Given the description of an element on the screen output the (x, y) to click on. 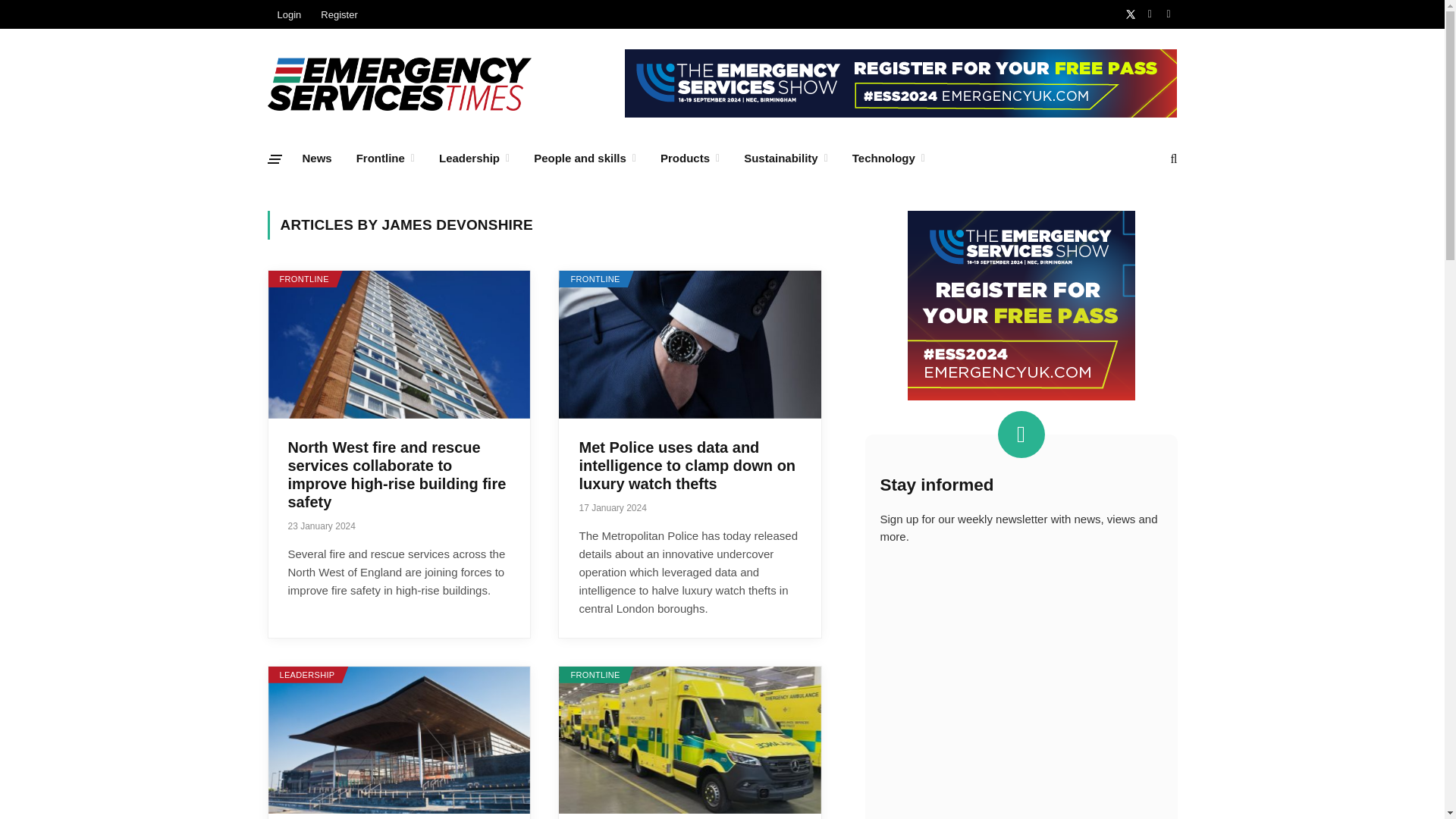
Form 0 (1020, 690)
Emergency Services Times (398, 83)
